Given the description of an element on the screen output the (x, y) to click on. 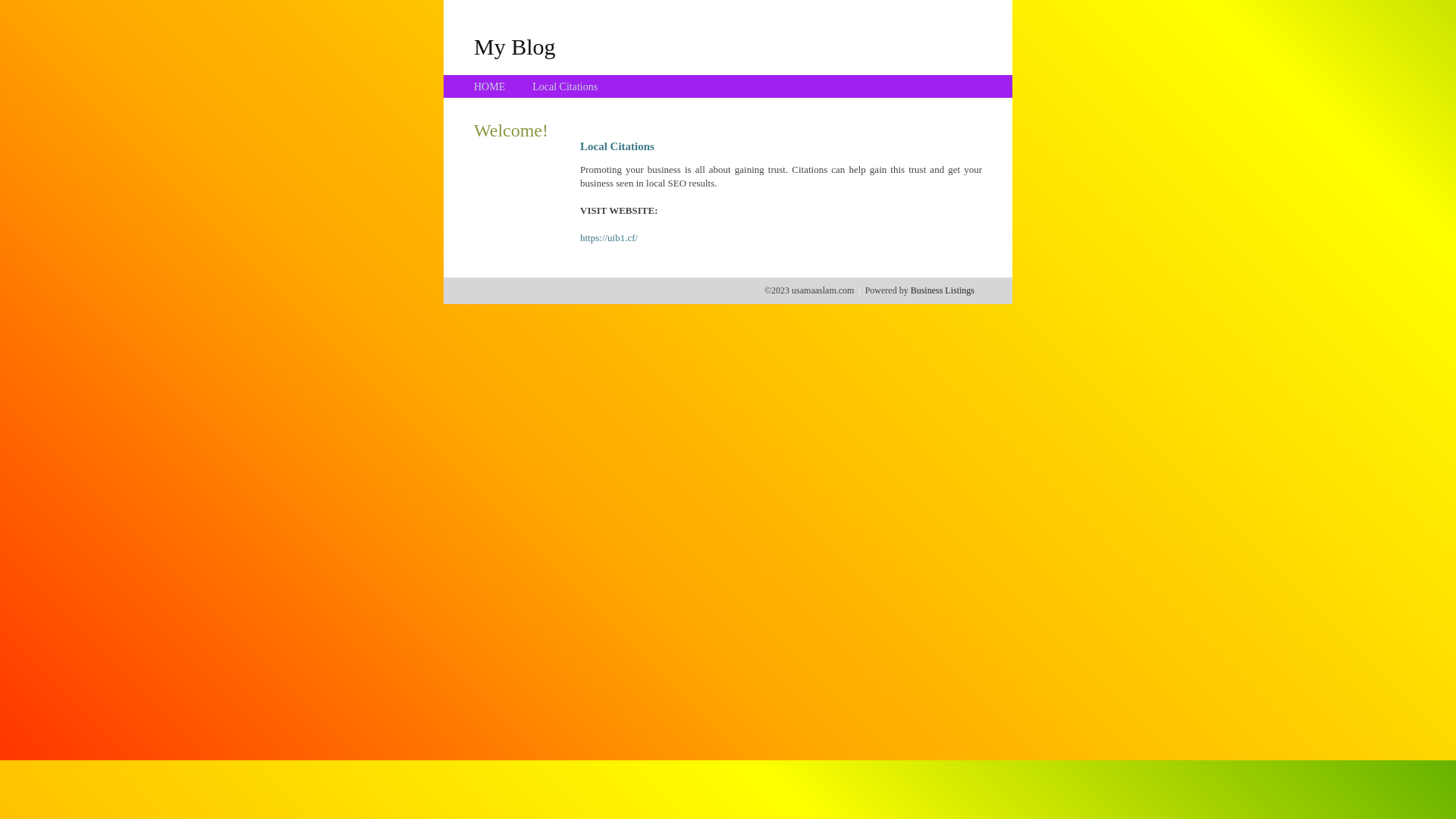
HOME Element type: text (489, 86)
Local Citations Element type: text (564, 86)
https://uib1.cf/ Element type: text (608, 237)
Business Listings Element type: text (942, 290)
My Blog Element type: text (514, 46)
